Given the description of an element on the screen output the (x, y) to click on. 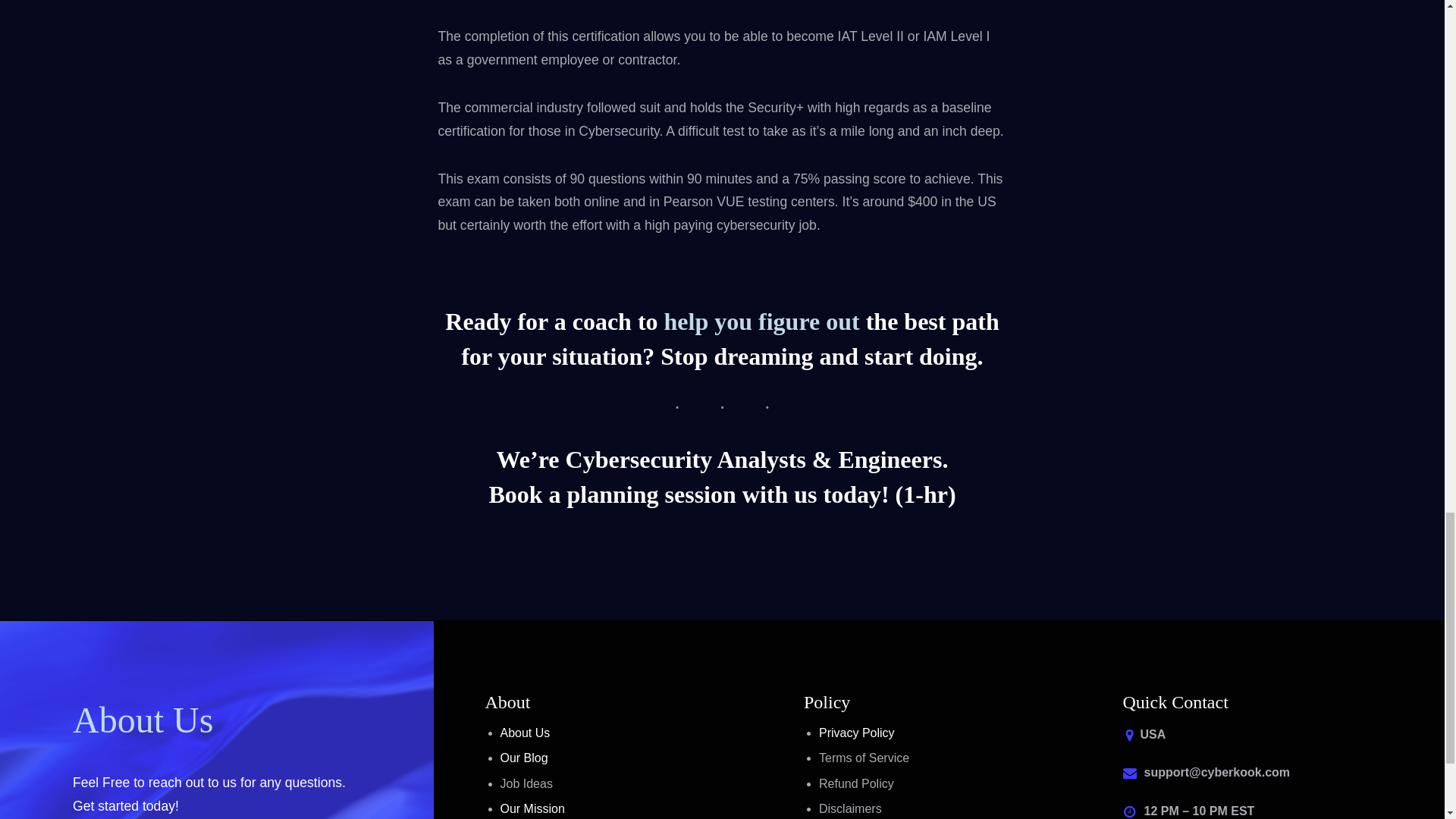
Our Mission (532, 808)
Our Blog (524, 757)
Privacy Policy (856, 732)
About Us (142, 721)
About Us (525, 732)
help you figure out (761, 323)
